Given the description of an element on the screen output the (x, y) to click on. 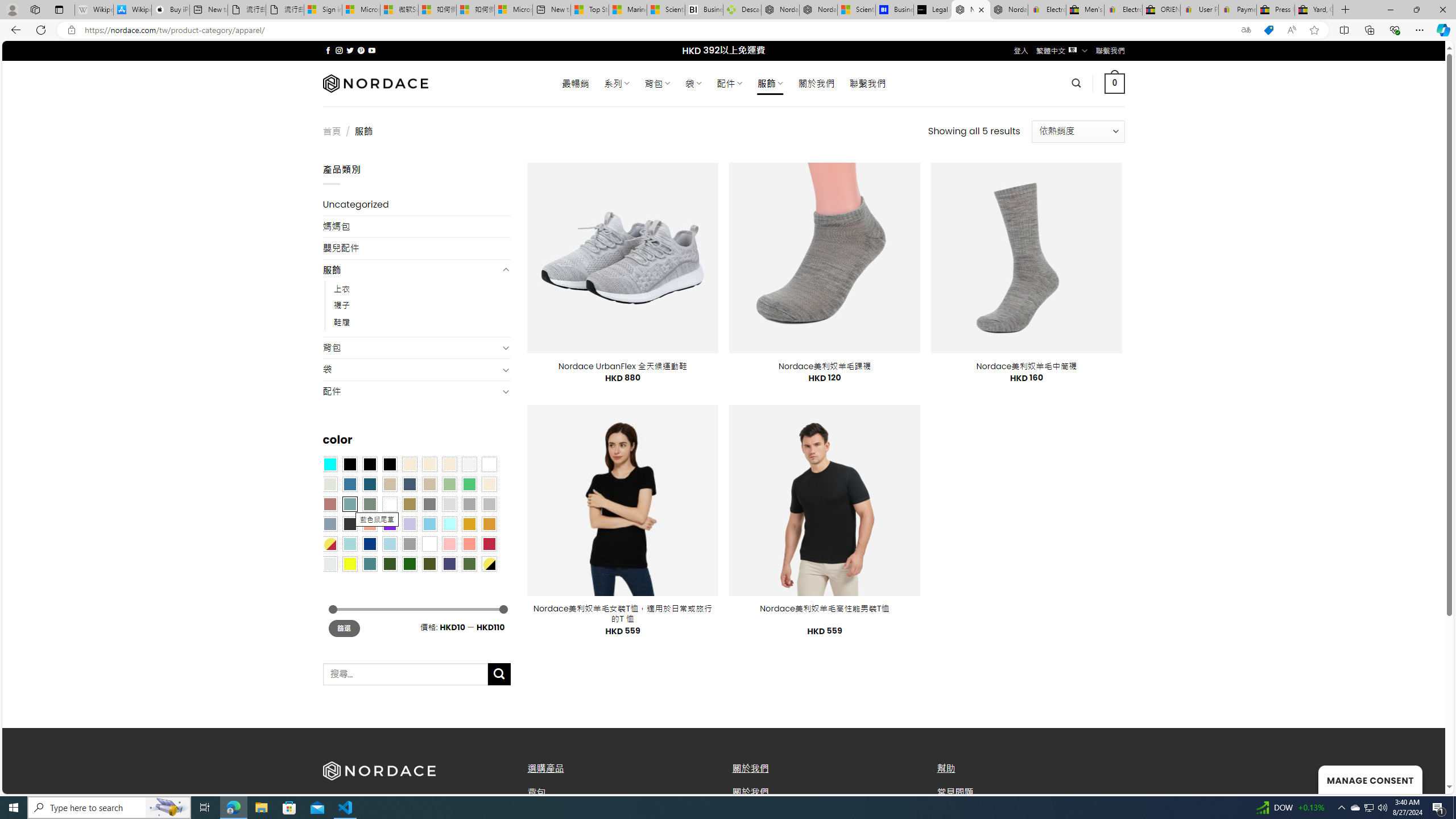
New tab (551, 9)
